Given the description of an element on the screen output the (x, y) to click on. 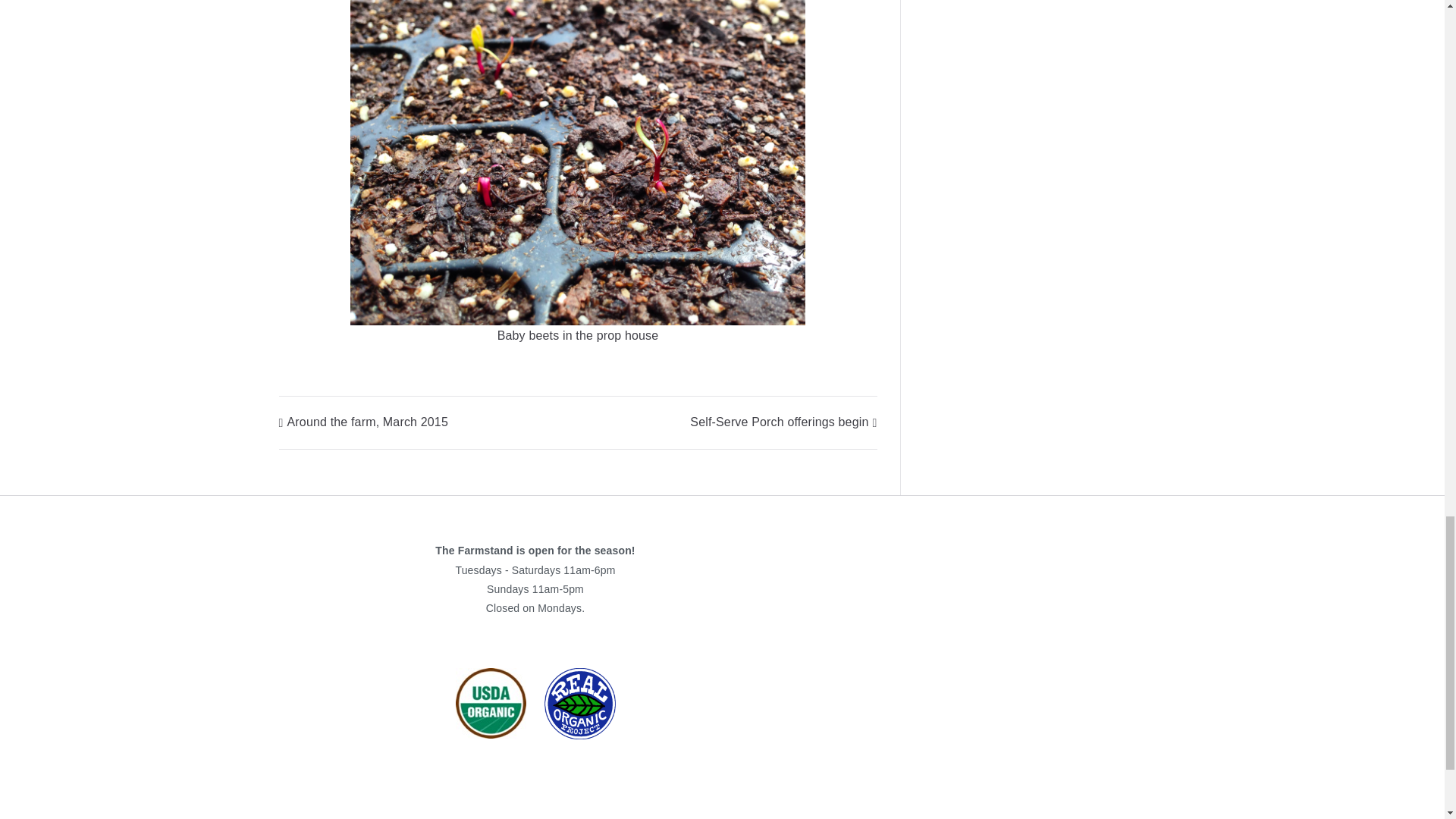
Self-Serve Porch offerings begin (783, 421)
Around the farm, March 2015 (363, 421)
